Given the description of an element on the screen output the (x, y) to click on. 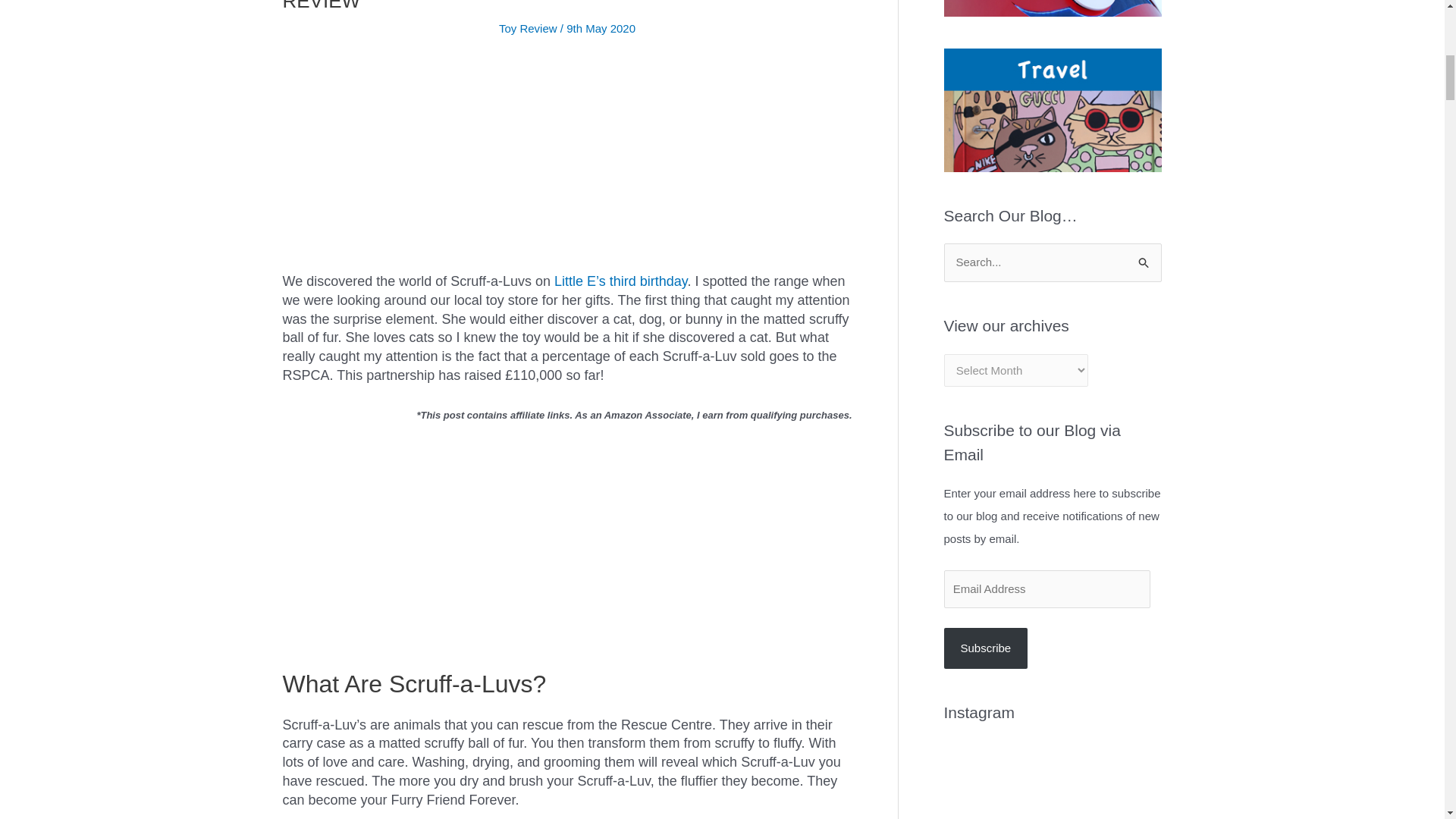
Search (1143, 258)
Search (1143, 258)
Advertisement (566, 165)
